Given the description of an element on the screen output the (x, y) to click on. 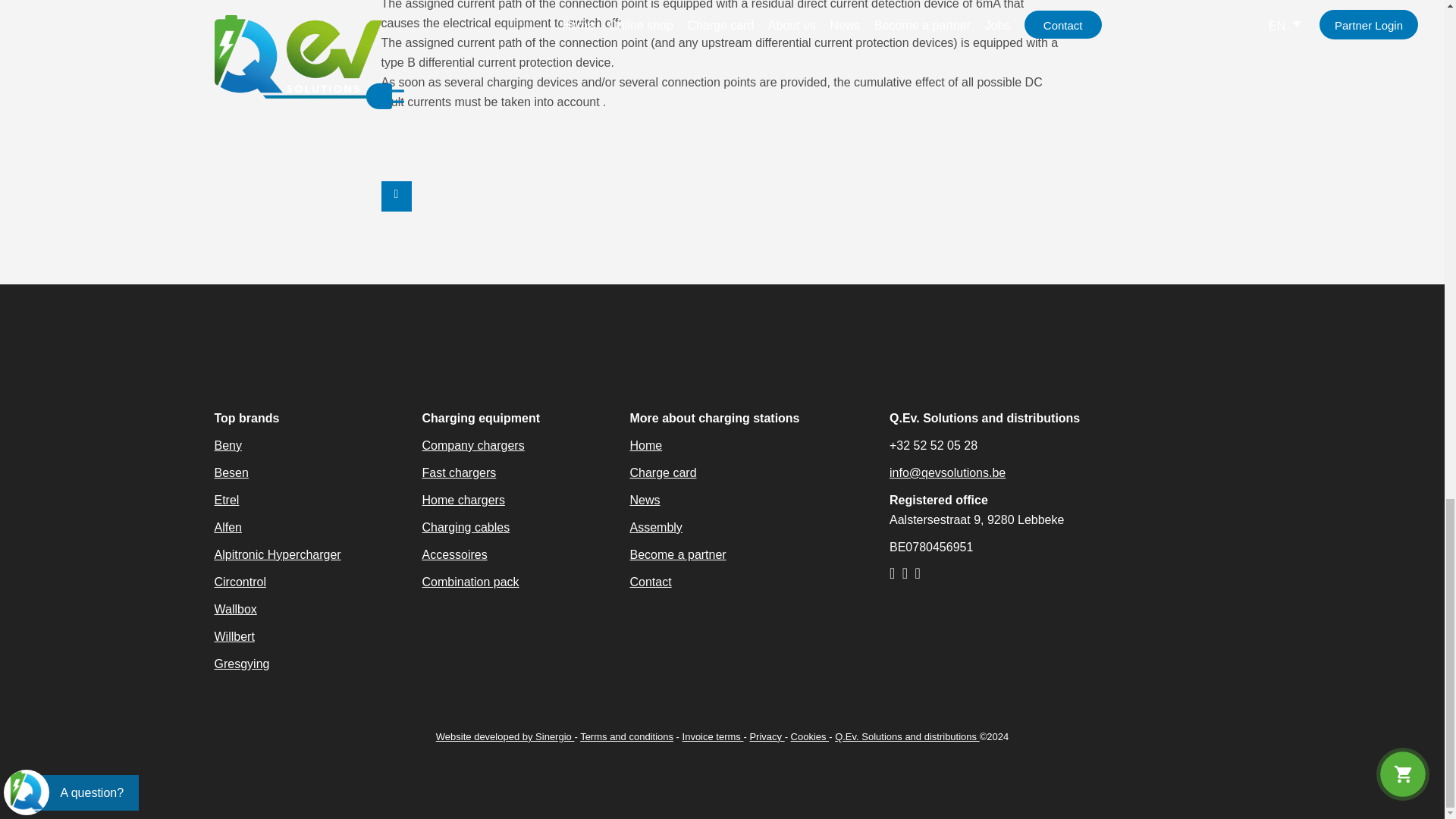
Beny (227, 445)
Besen (230, 472)
Website developed by Sinergio (505, 736)
